Given the description of an element on the screen output the (x, y) to click on. 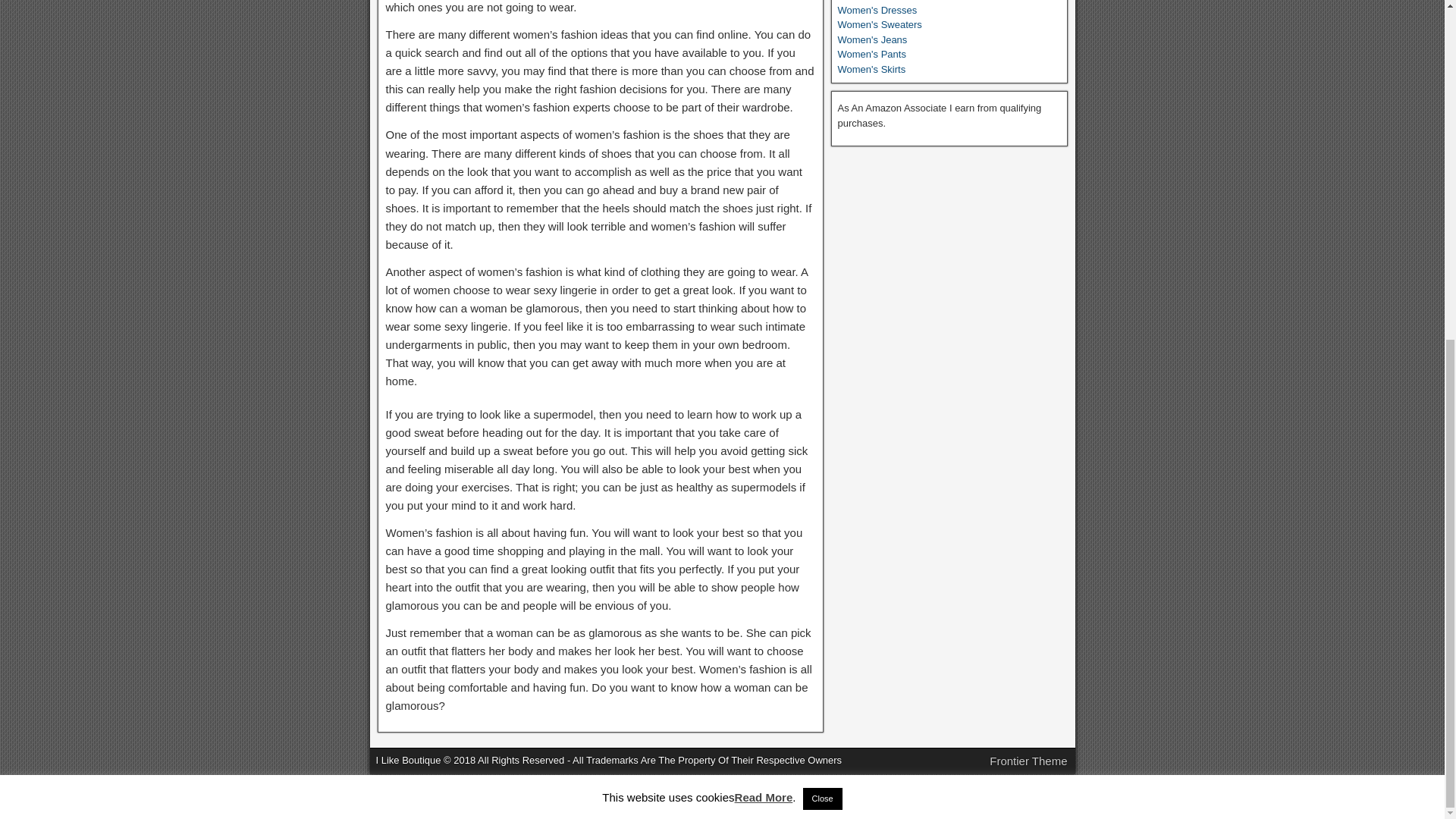
Read More (764, 221)
Women's Jeans (872, 39)
Frontier Theme (1028, 760)
Women's Sweaters (879, 24)
Women's Pants (871, 53)
Women's Dresses (877, 9)
Women's Skirts (871, 69)
Close (823, 223)
